Given the description of an element on the screen output the (x, y) to click on. 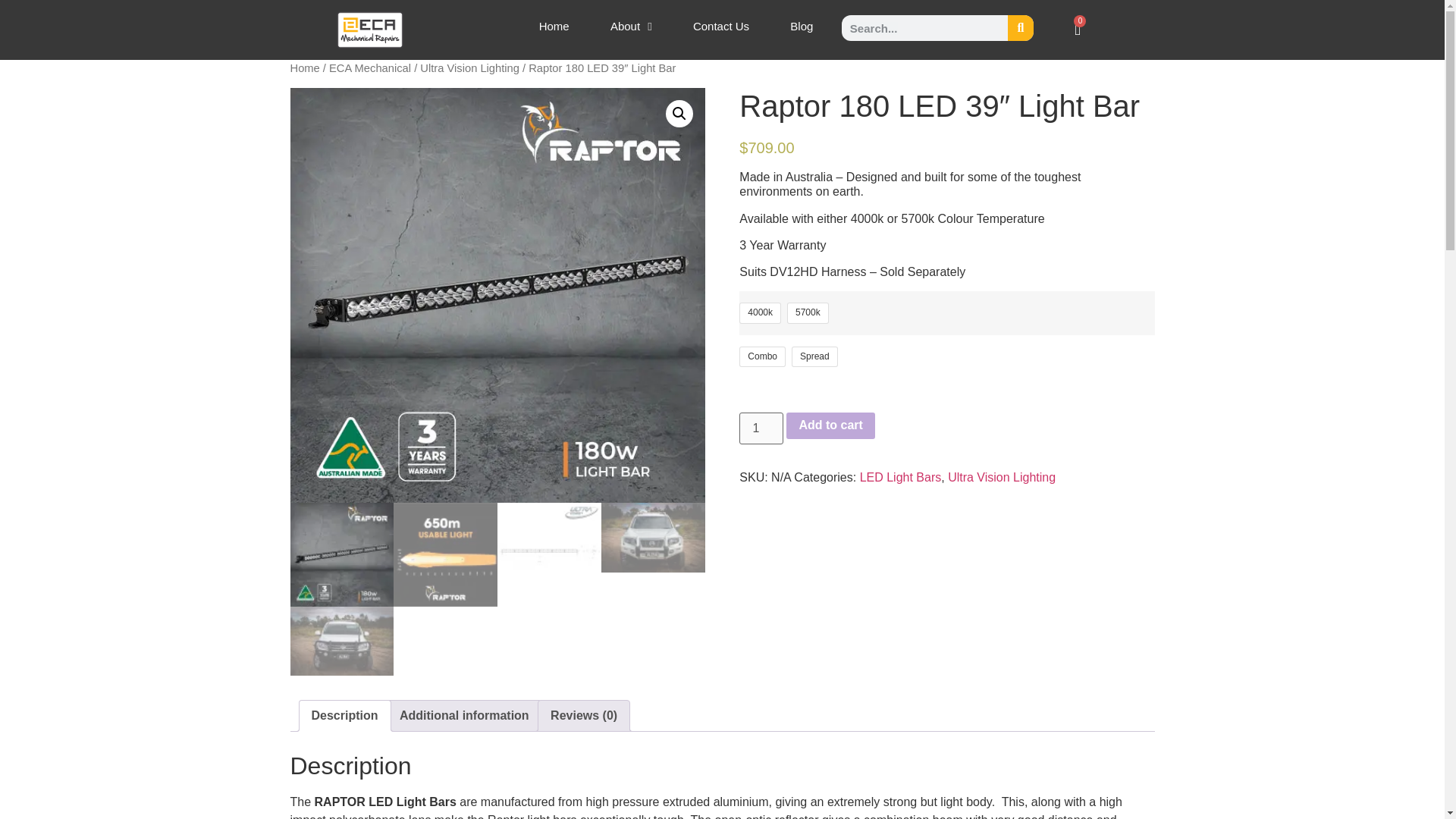
Blog (801, 26)
Home (553, 26)
1 (761, 428)
0 (1078, 28)
About (630, 26)
Contact Us (721, 26)
